Given the description of an element on the screen output the (x, y) to click on. 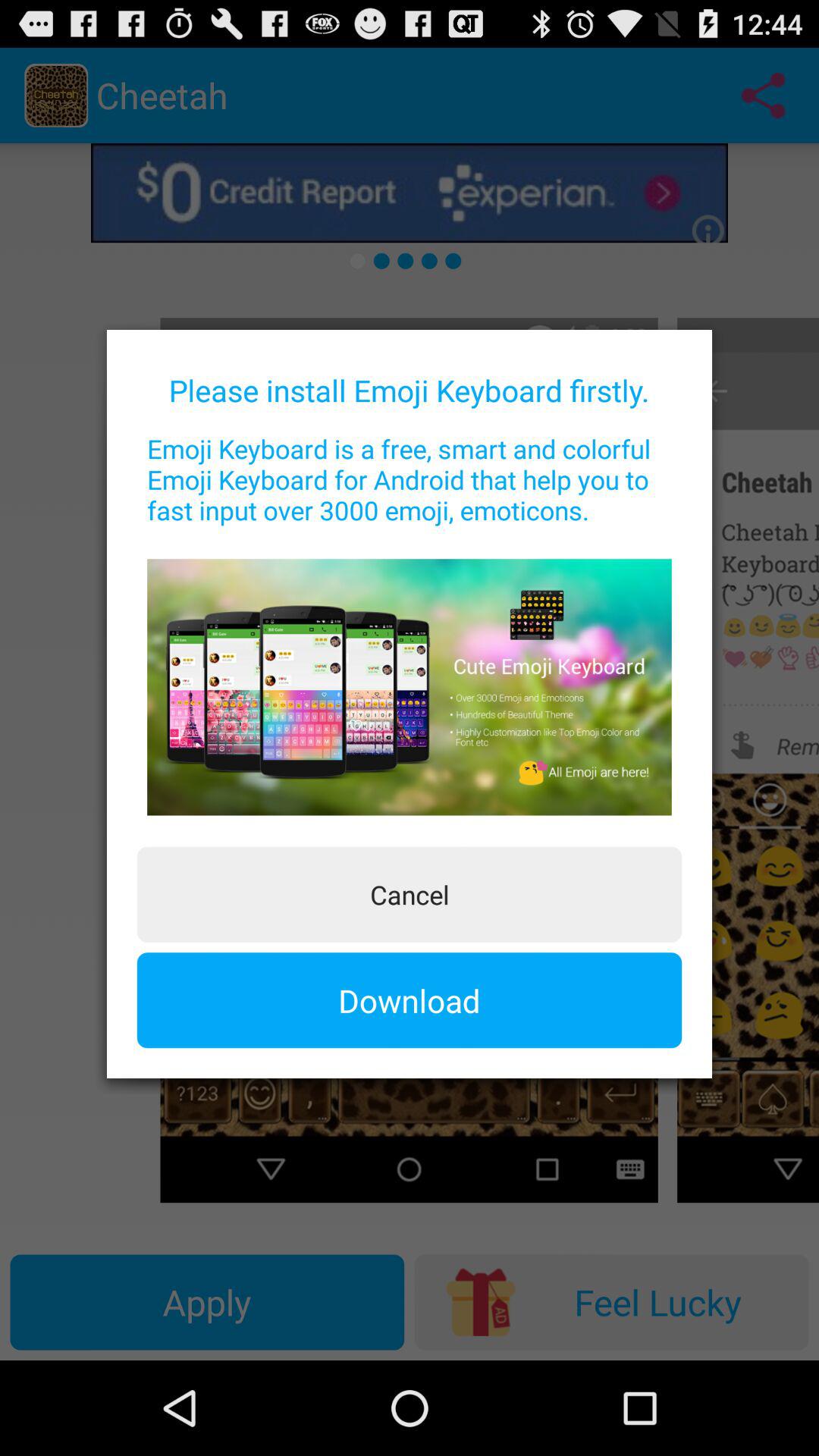
scroll to download button (409, 1000)
